Given the description of an element on the screen output the (x, y) to click on. 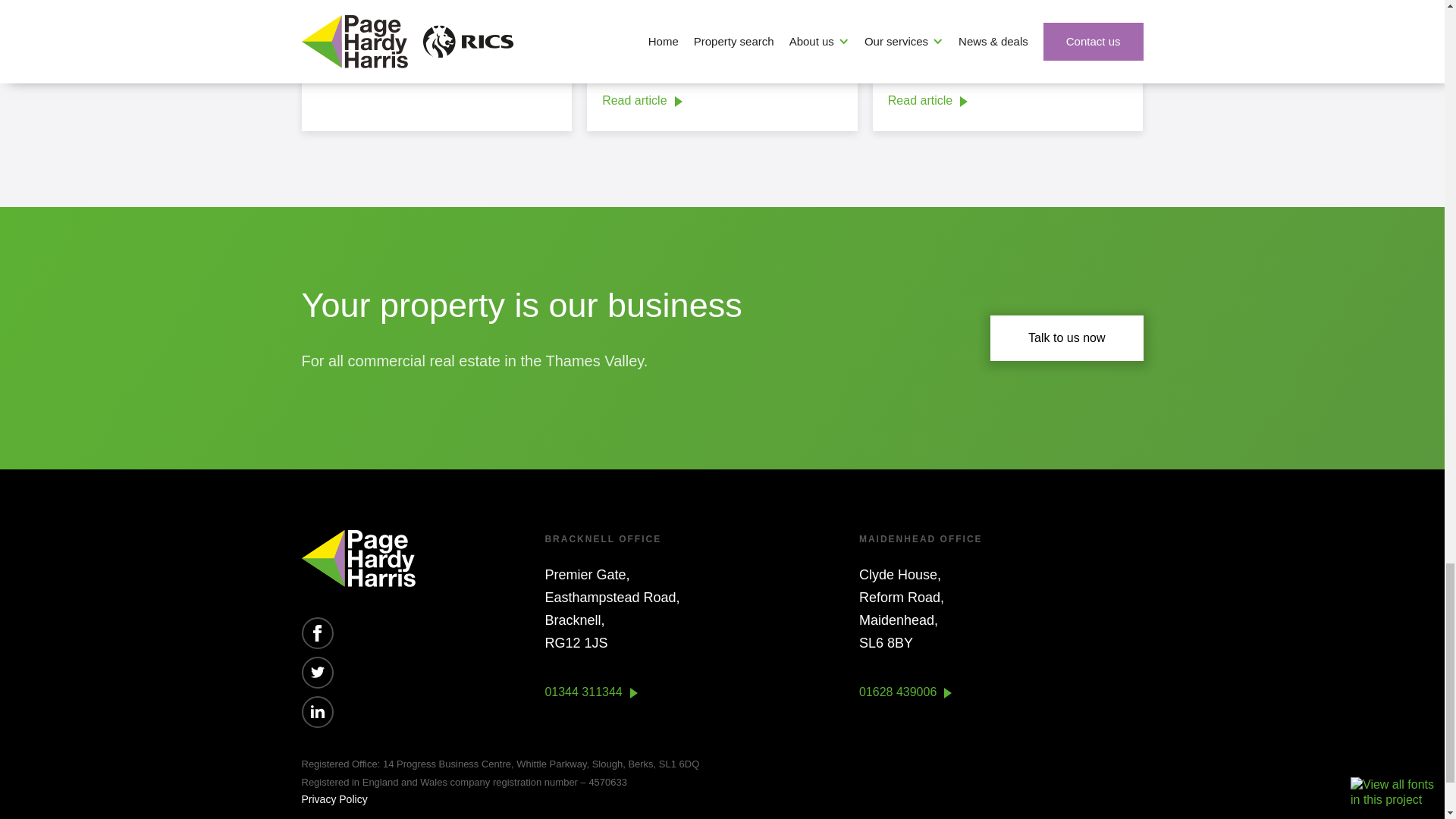
Privacy Policy (334, 798)
Talk to us now (1066, 338)
Read article (928, 104)
01344 311344 (590, 695)
01628 439006 (905, 695)
Read article (641, 104)
Read article (356, 67)
